Given the description of an element on the screen output the (x, y) to click on. 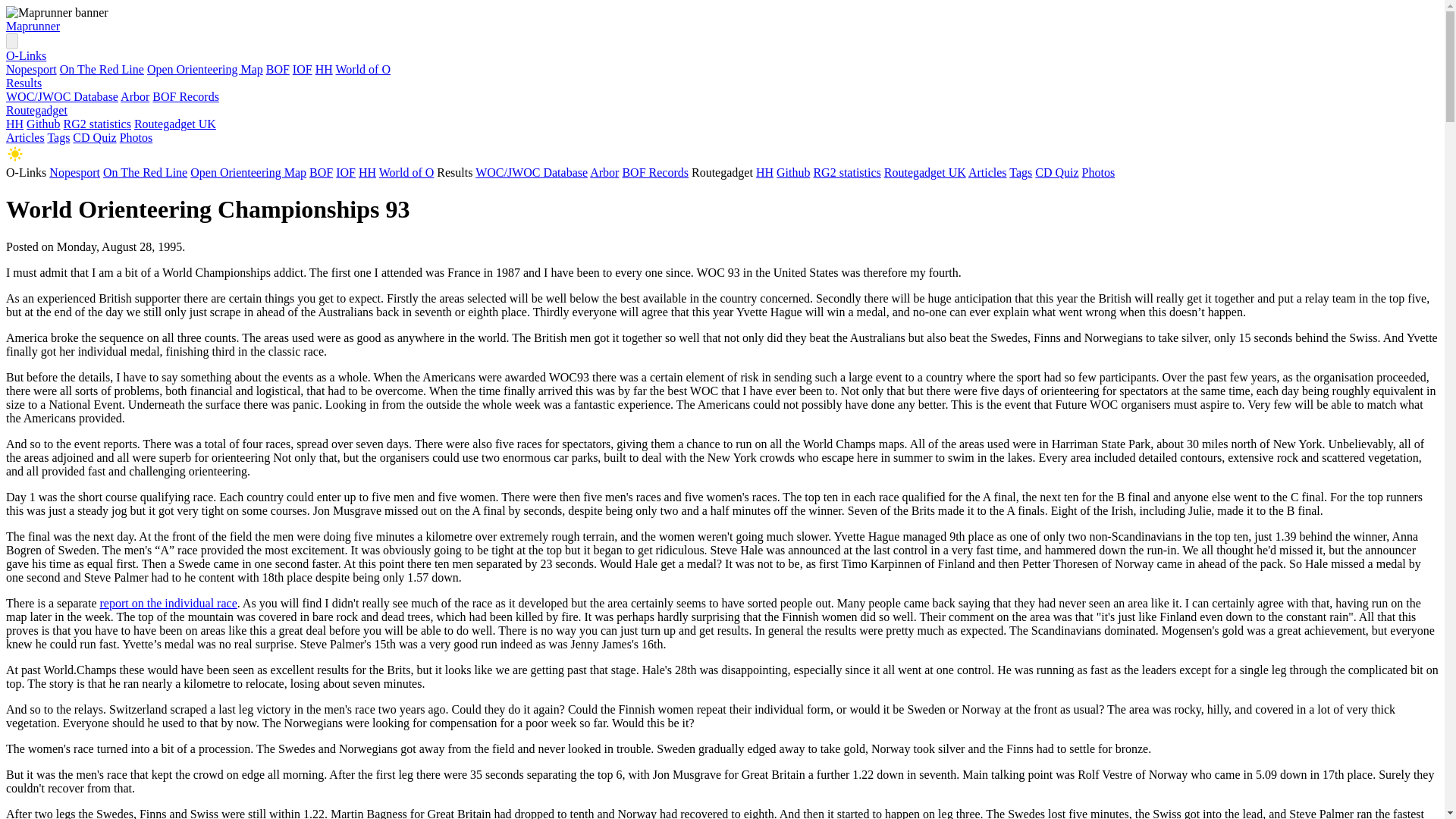
HH (14, 123)
Github (42, 123)
BOF Records (185, 96)
Open Orienteering Map (205, 69)
IOF (302, 69)
RG2 statistics (97, 123)
Routegadget UK (924, 172)
Tags (57, 137)
Routegadget UK (174, 123)
World of O (362, 69)
Nopesport (74, 172)
RG2 statistics (846, 172)
BOF (277, 69)
IOF (345, 172)
CD Quiz (1056, 172)
